Given the description of an element on the screen output the (x, y) to click on. 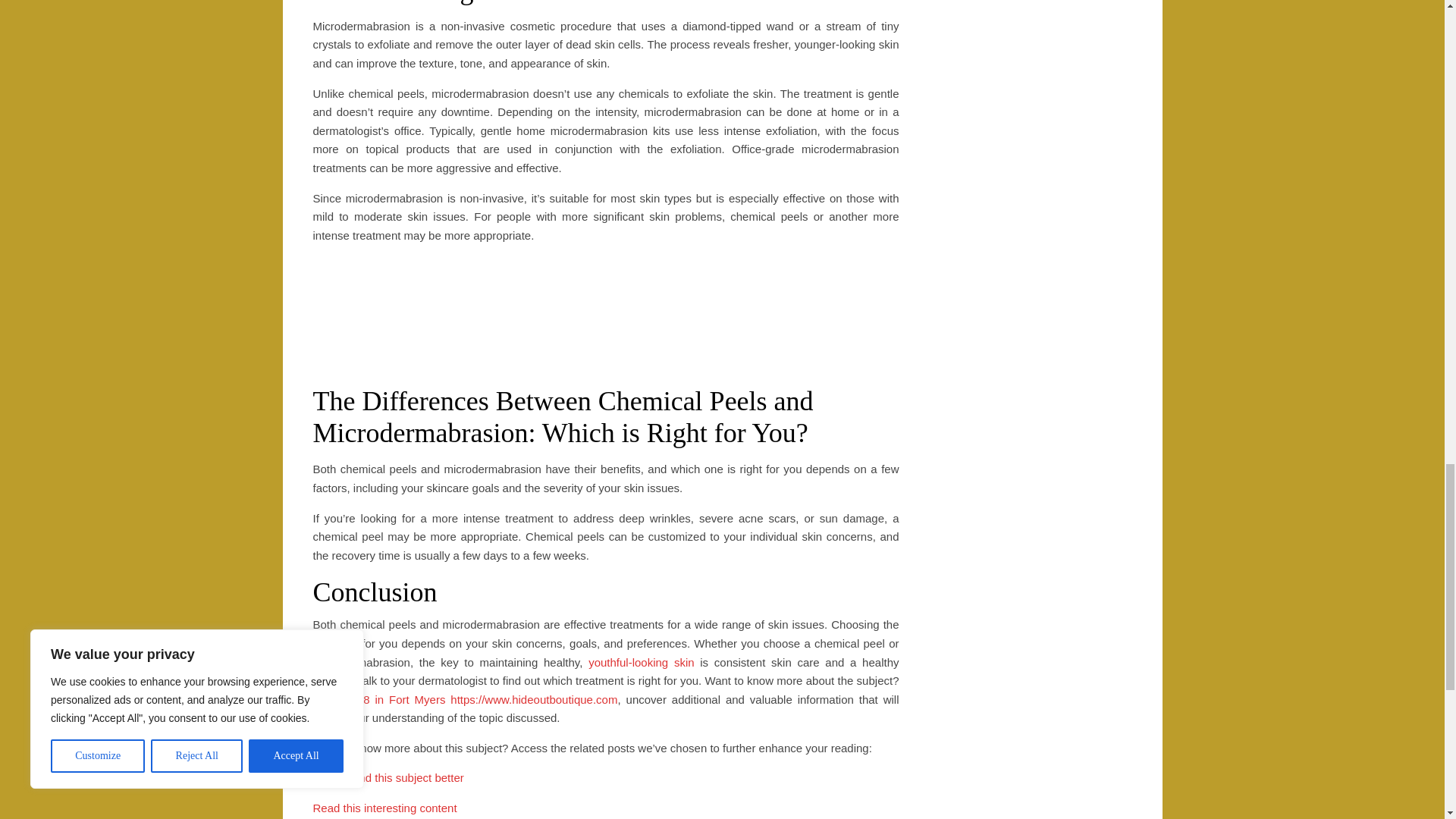
Read this interesting content (385, 807)
youthful-looking skin (641, 662)
Understand this subject better (388, 777)
